Given the description of an element on the screen output the (x, y) to click on. 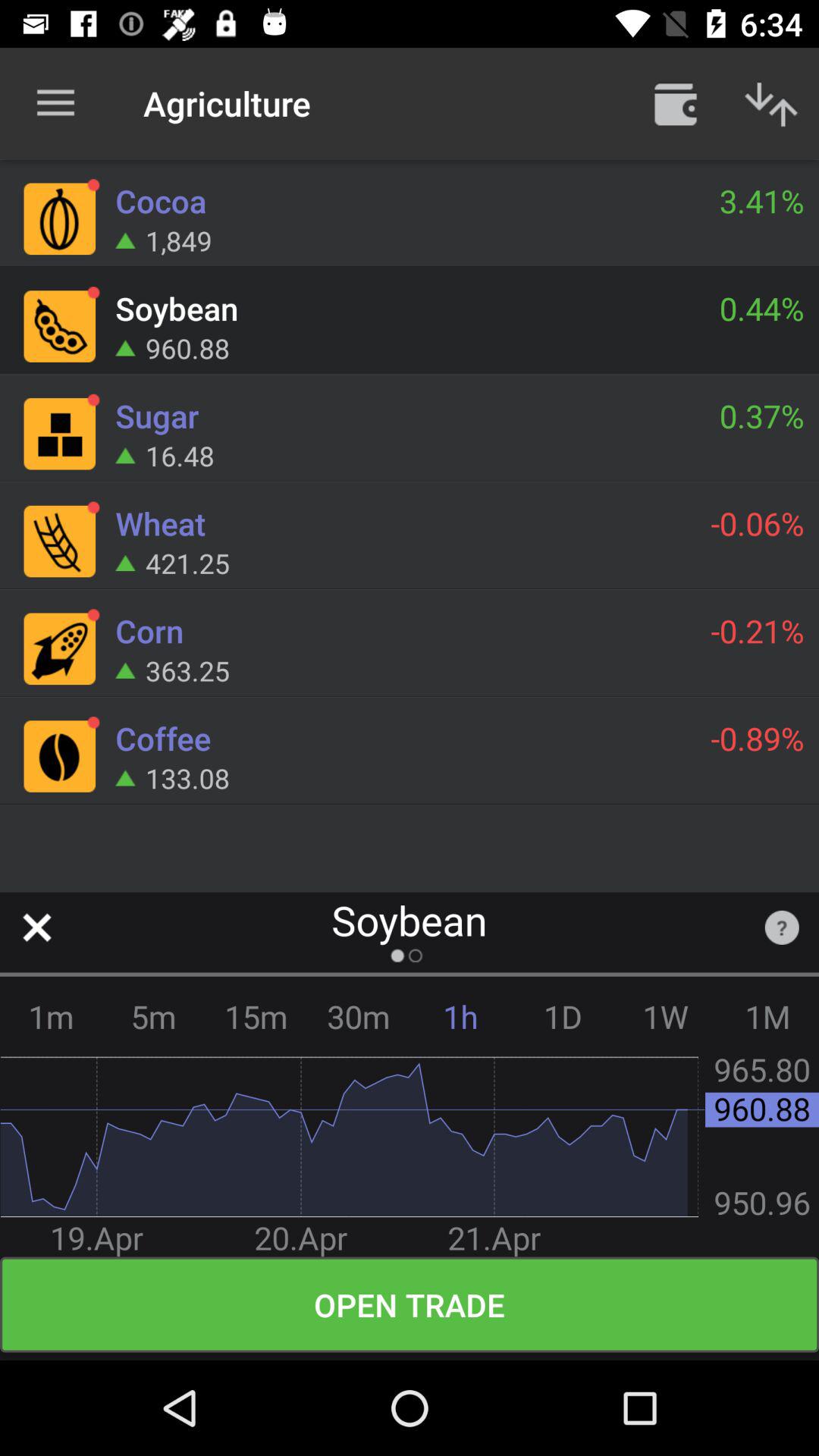
launch icon next to the soybean icon (781, 927)
